Given the description of an element on the screen output the (x, y) to click on. 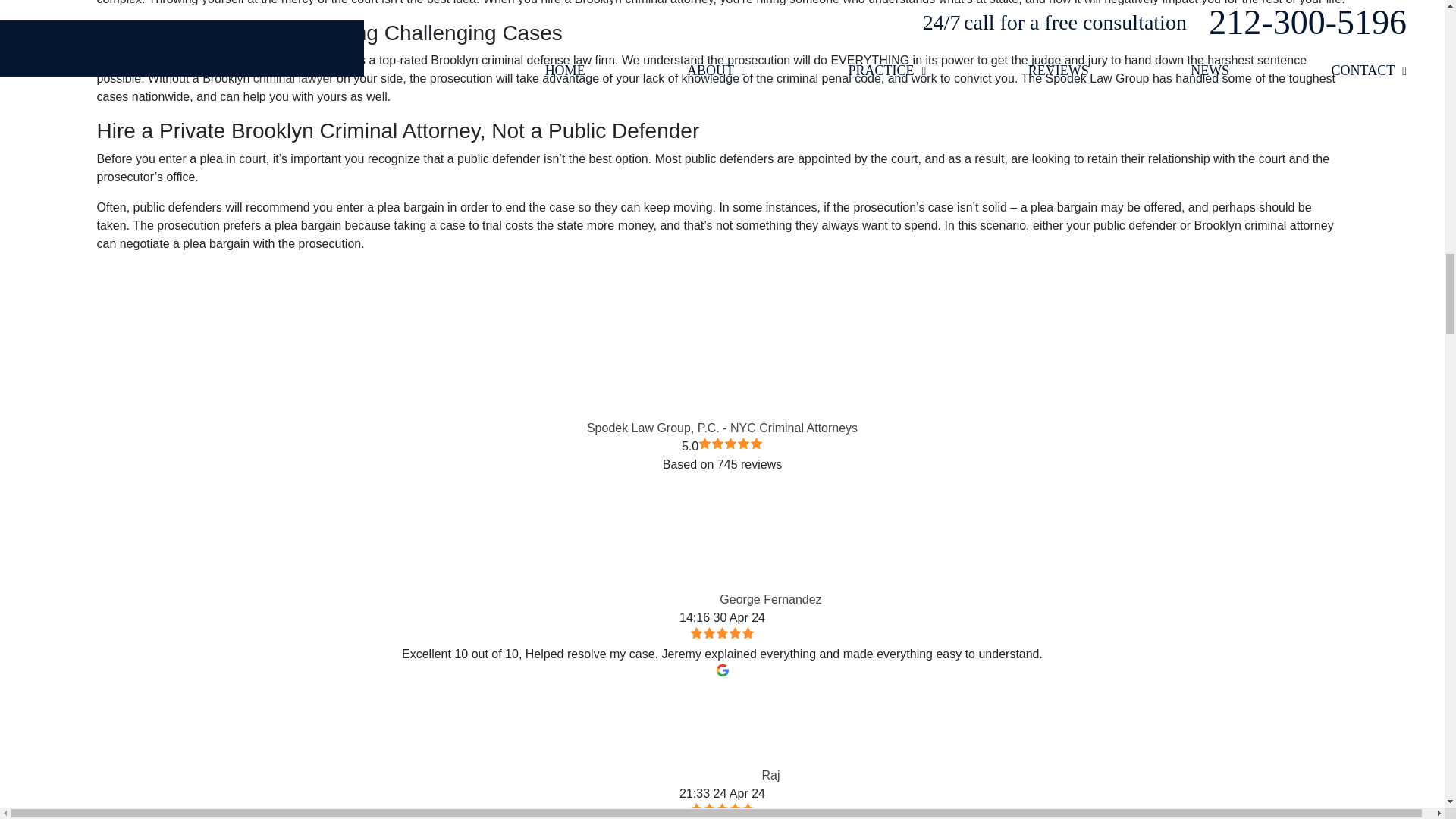
George Fernandez (671, 554)
criminal lawyer (293, 78)
powered by Google (721, 487)
Raj (712, 730)
Spodek Law Group, P.C. - NYC Criminal Attorneys (721, 339)
